Given the description of an element on the screen output the (x, y) to click on. 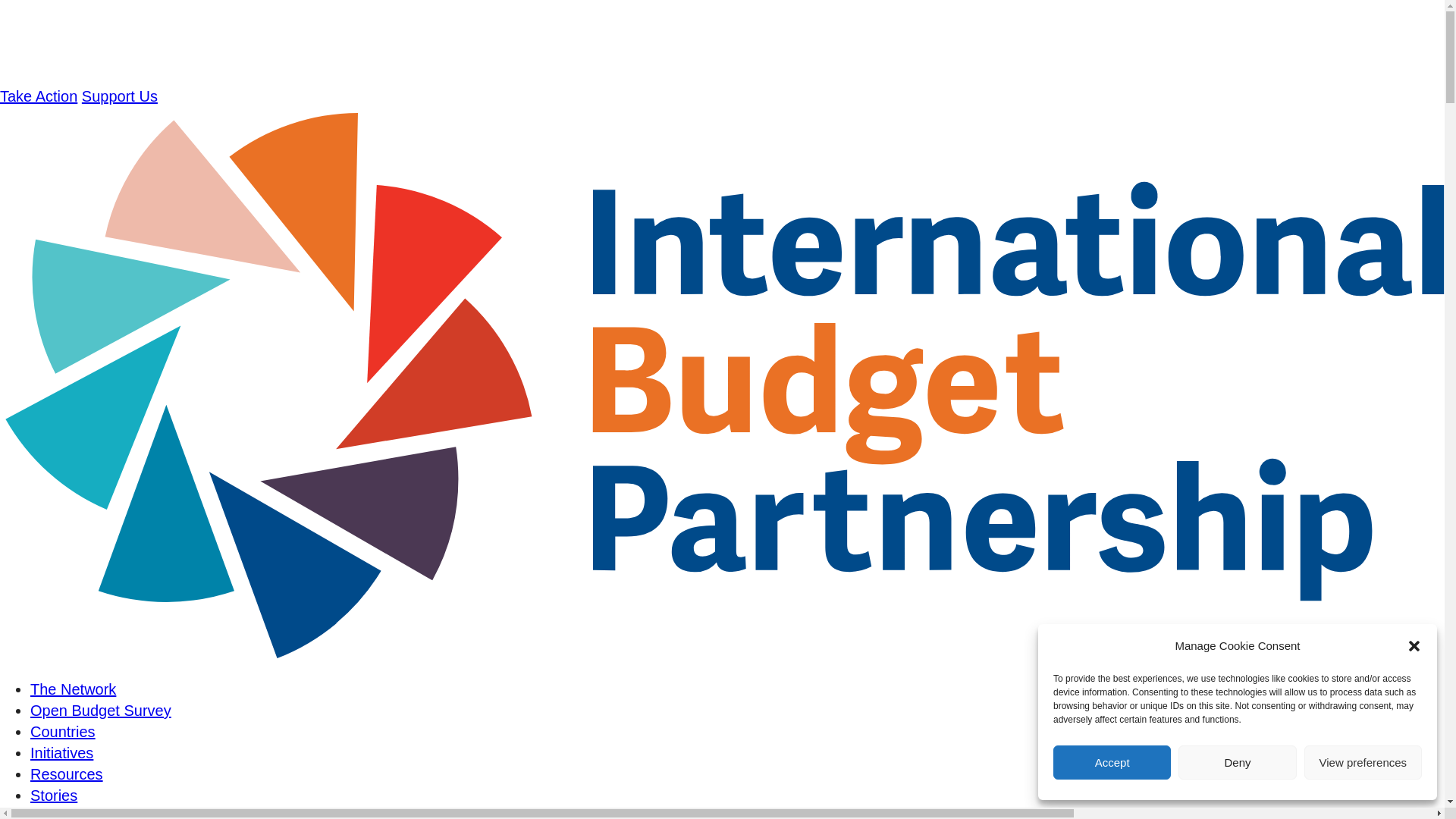
View preferences (1363, 762)
Accept (1111, 762)
Deny (1236, 762)
